Given the description of an element on the screen output the (x, y) to click on. 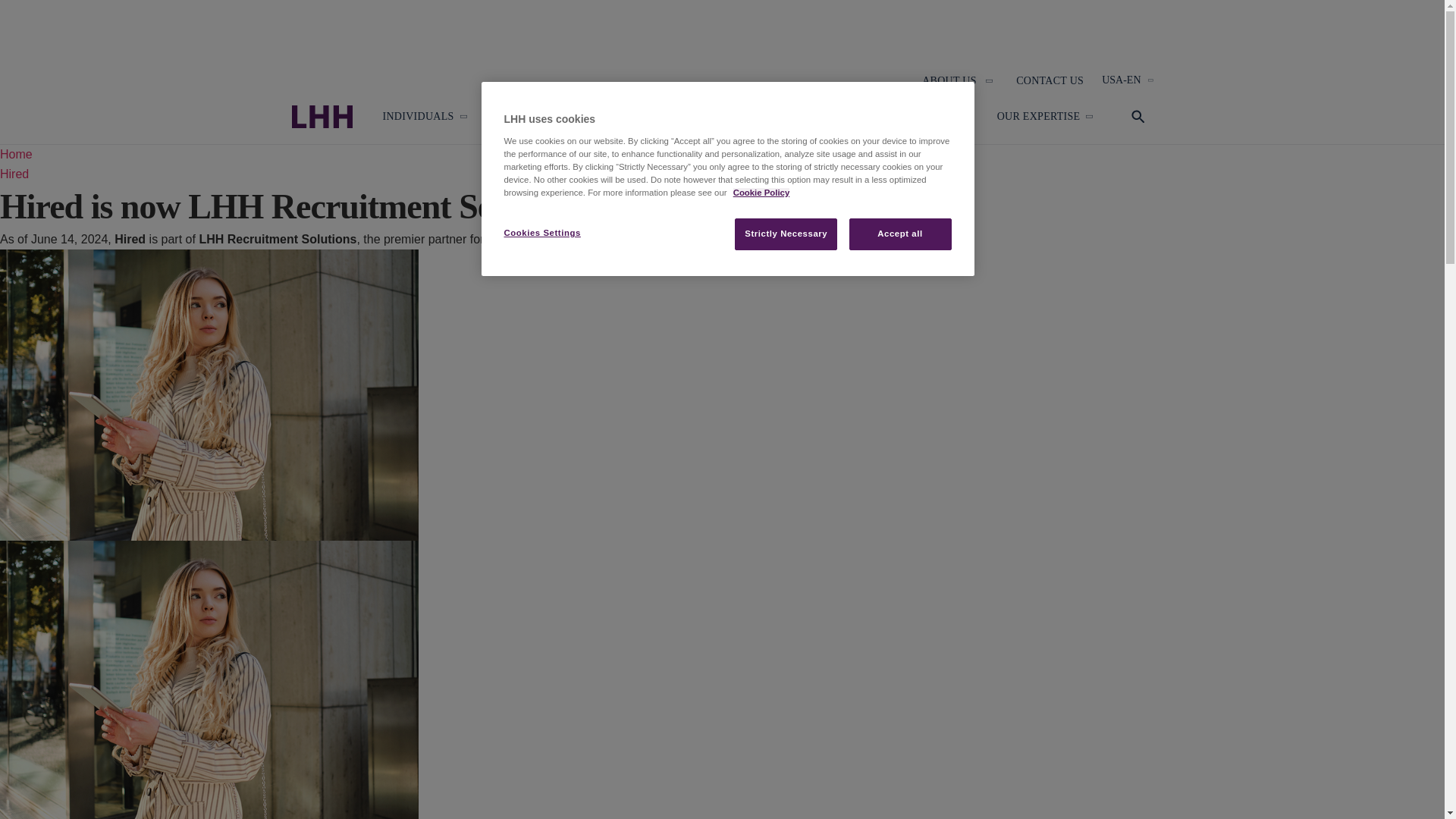
INDIVIDUALS (416, 116)
USA-EN (1127, 79)
ABOUT US (948, 80)
CONTACT US (1049, 80)
